Given the description of an element on the screen output the (x, y) to click on. 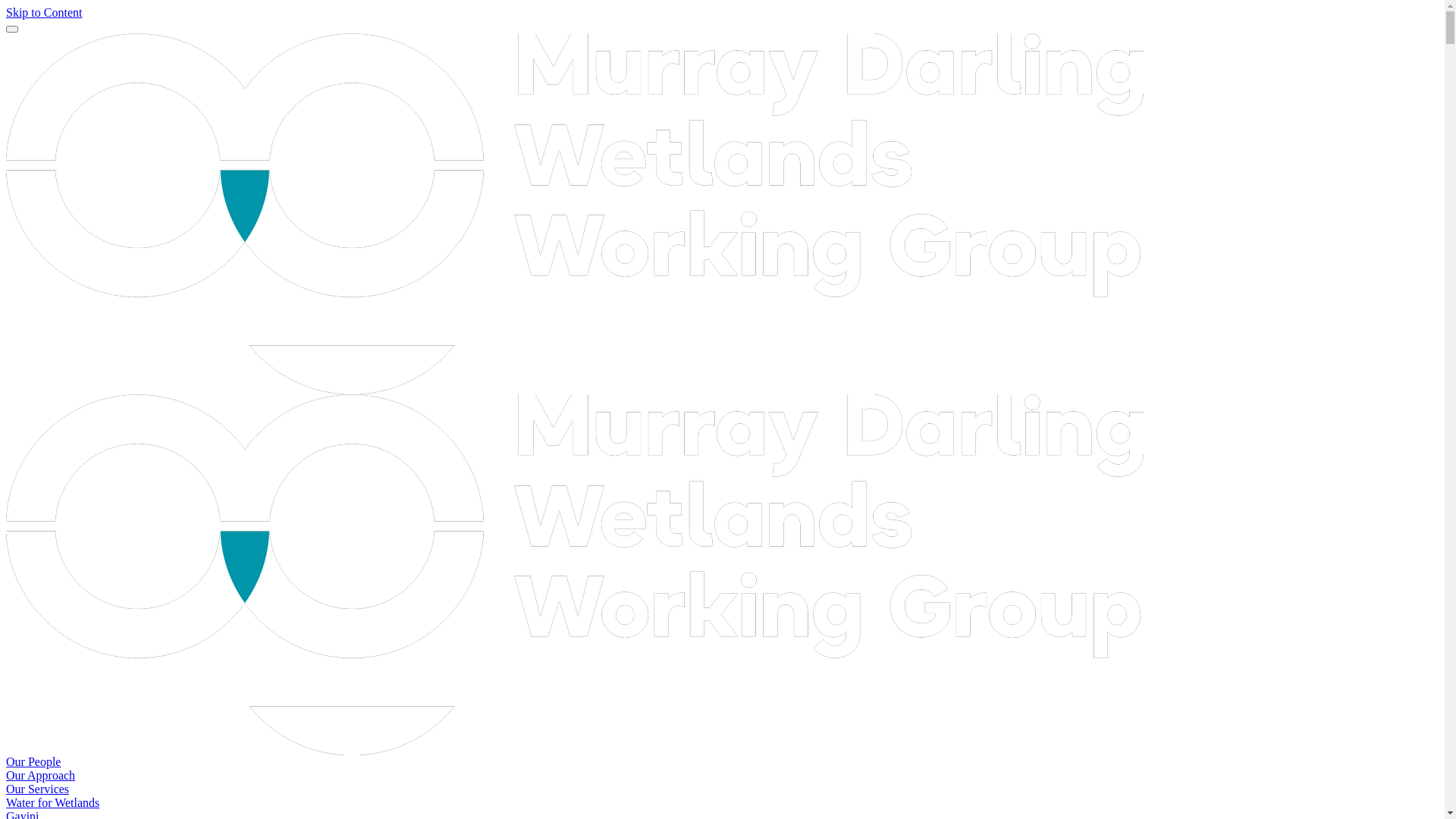
Water for Wetlands Element type: text (52, 802)
Skip to Content Element type: text (43, 12)
Our Services Element type: text (37, 788)
Our People Element type: text (33, 761)
Our Approach Element type: text (40, 774)
